Given the description of an element on the screen output the (x, y) to click on. 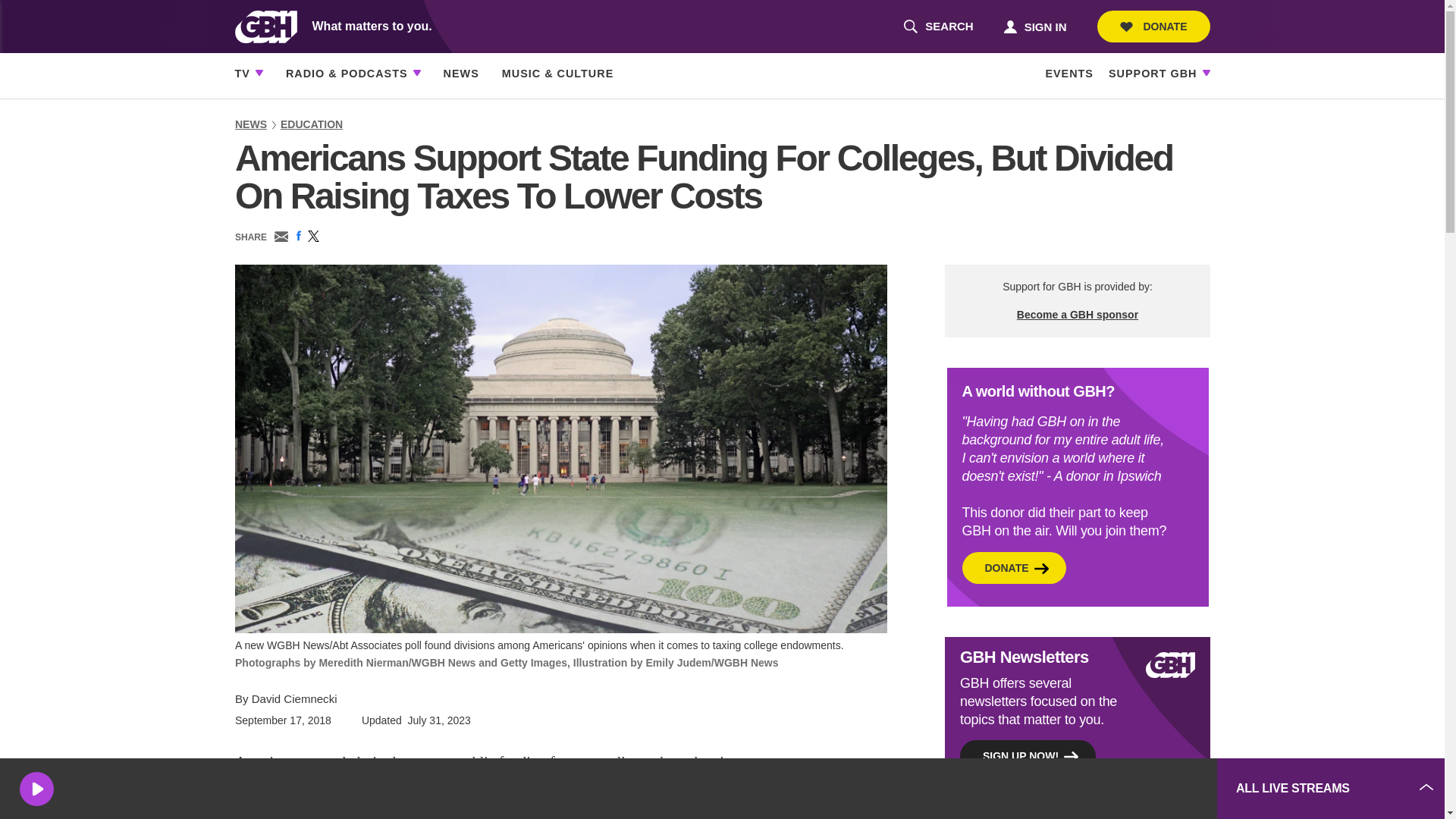
SIGN IN (937, 26)
DONATE (1034, 25)
